Given the description of an element on the screen output the (x, y) to click on. 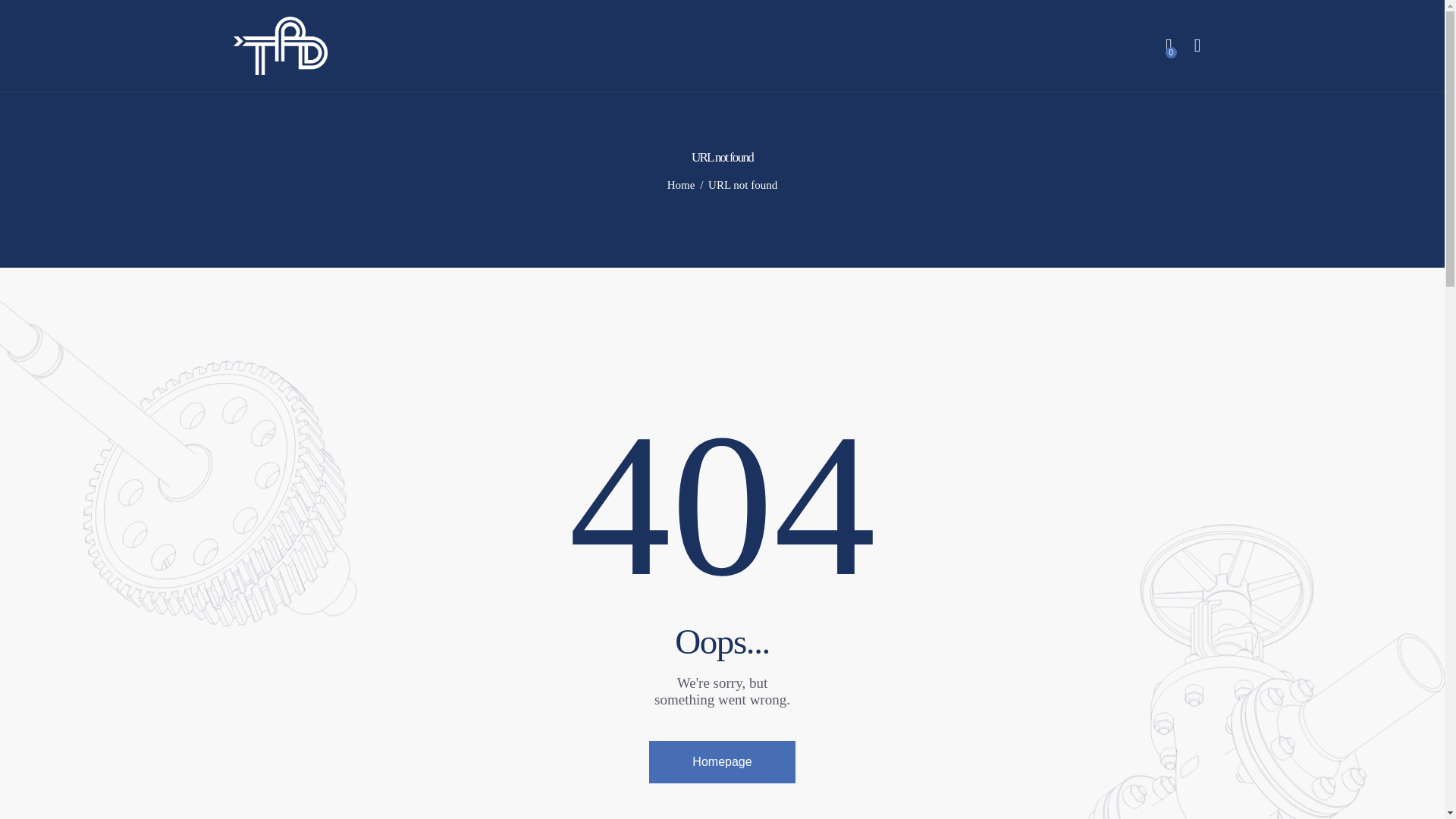
Home (680, 185)
